Given the description of an element on the screen output the (x, y) to click on. 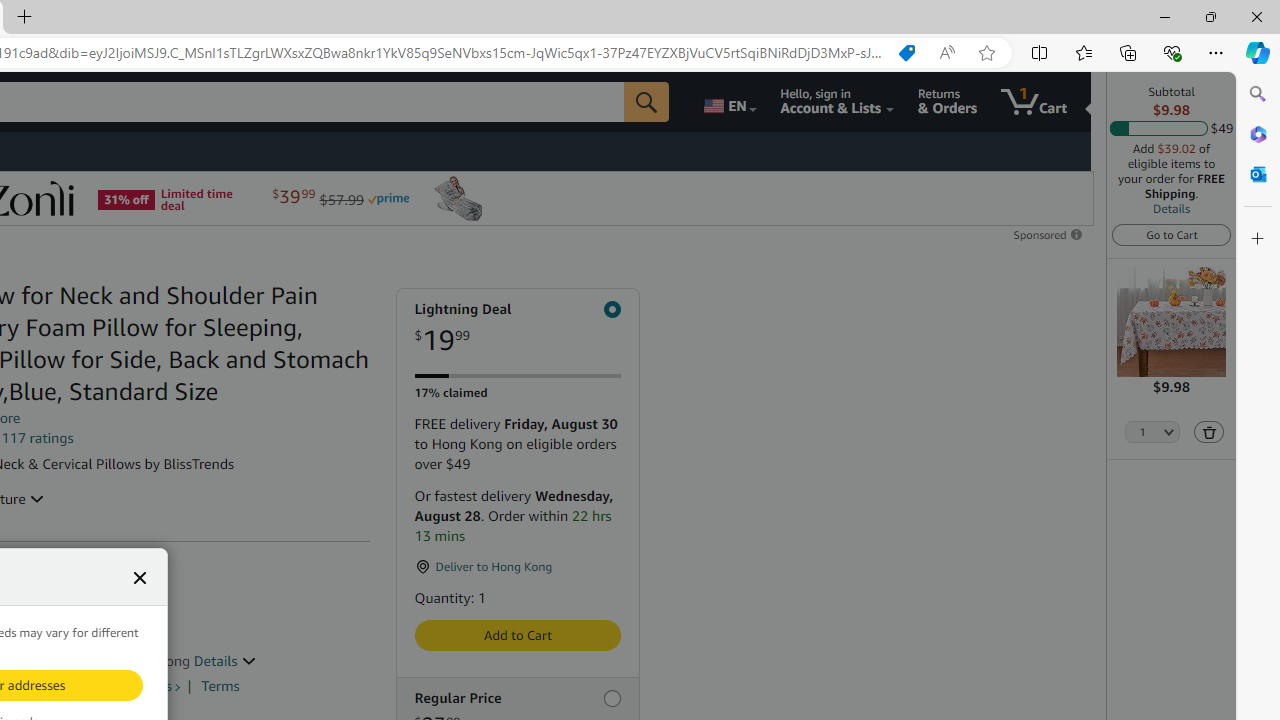
Delete (1209, 431)
Add to Cart (516, 635)
Returns & Orders (946, 101)
1 item in cart (1034, 101)
Delete (1208, 431)
Prime (388, 198)
